Given the description of an element on the screen output the (x, y) to click on. 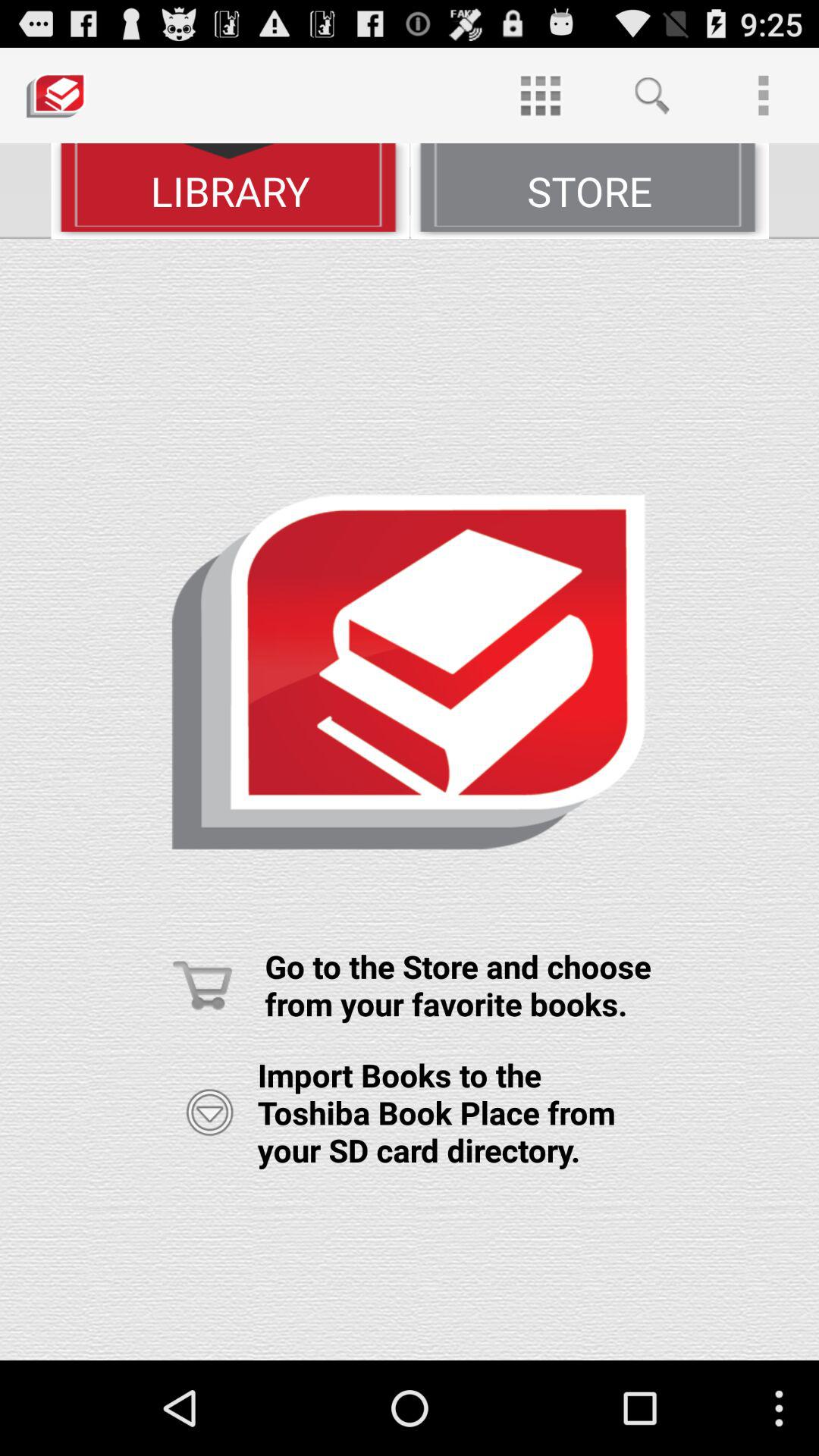
tap item at the top (540, 95)
